Given the description of an element on the screen output the (x, y) to click on. 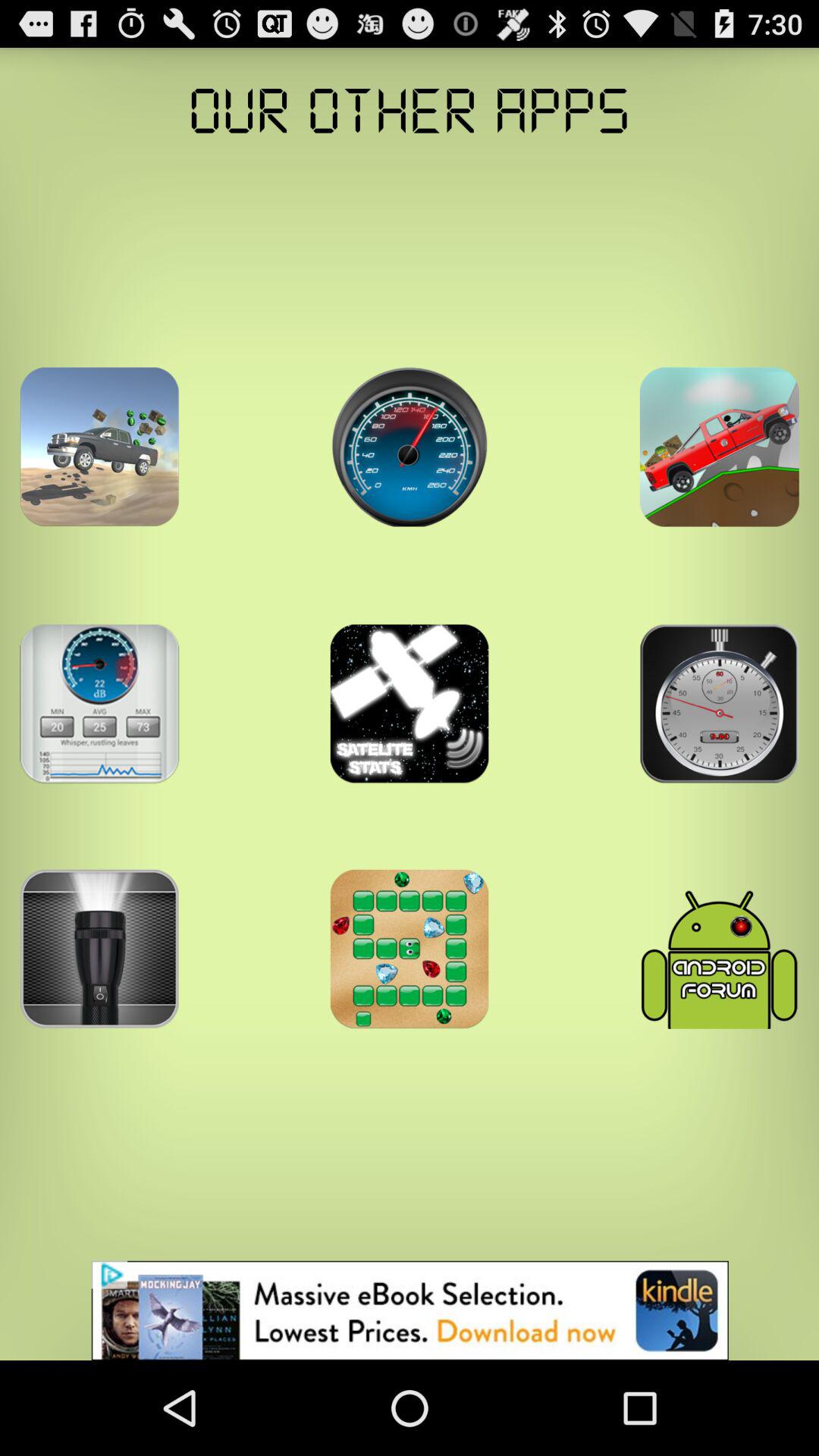
stopwatch (719, 703)
